Given the description of an element on the screen output the (x, y) to click on. 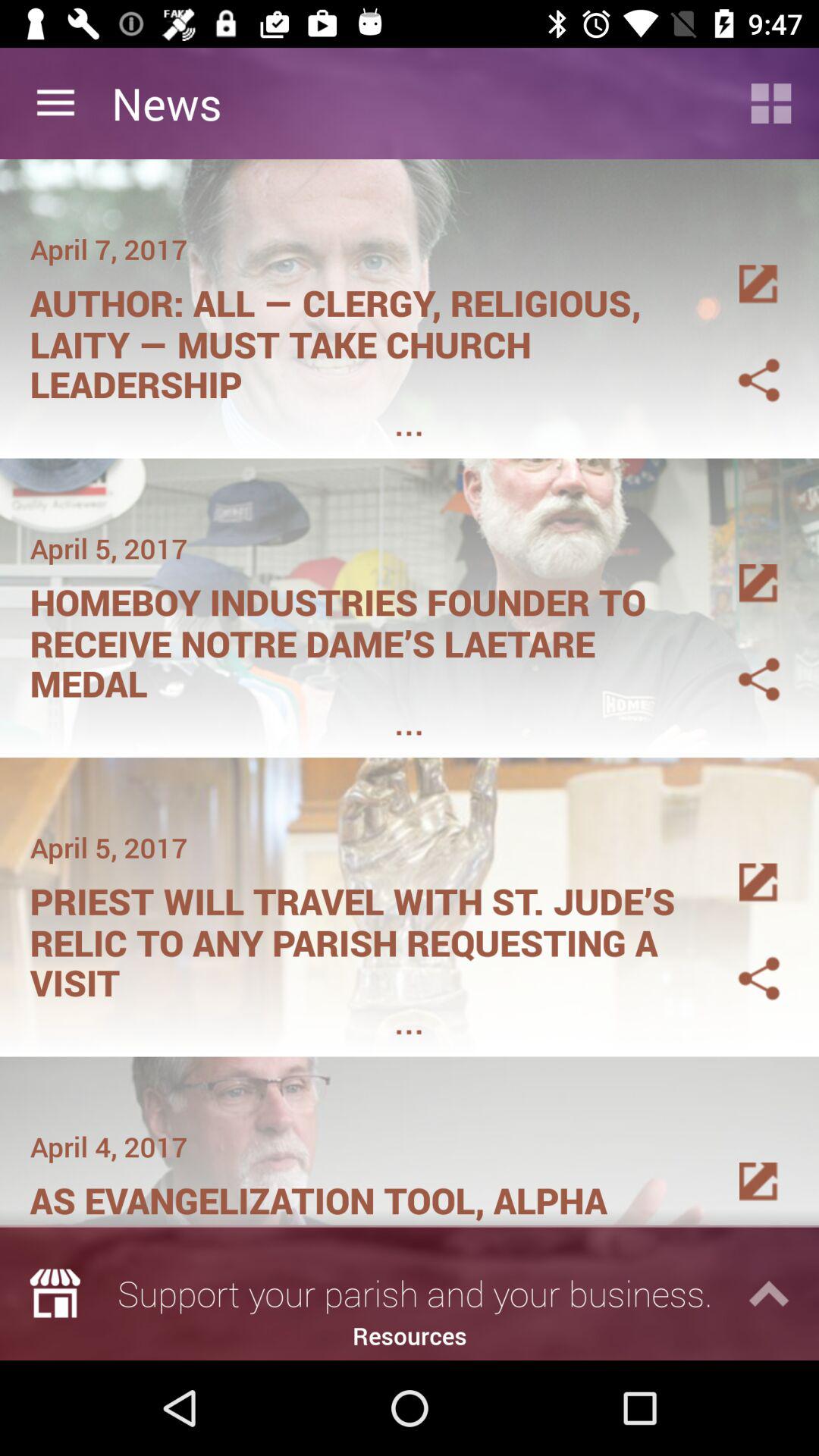
share (740, 661)
